Given the description of an element on the screen output the (x, y) to click on. 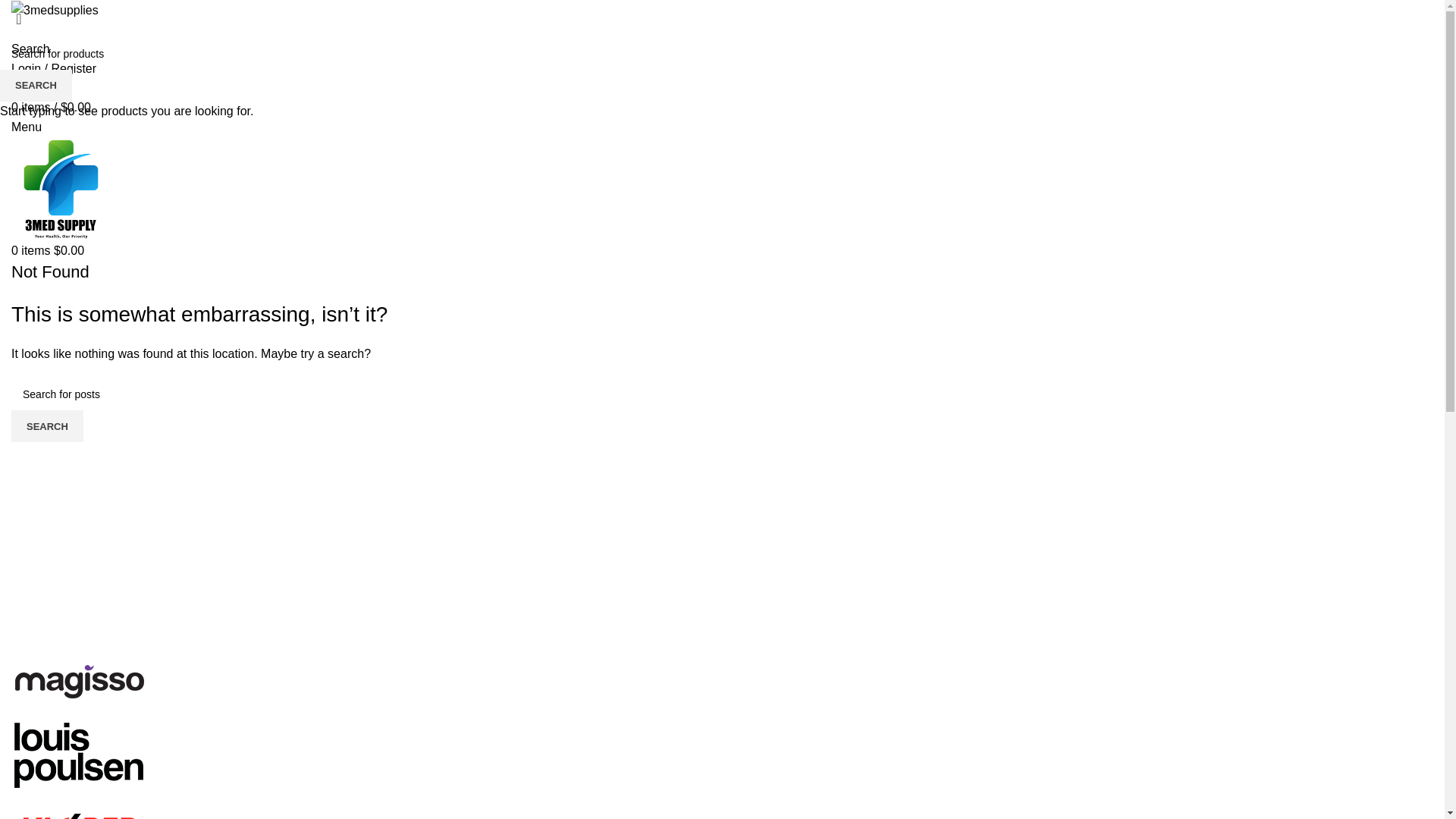
0 items / $0.00 Element type: text (51, 106)
Menu Element type: text (26, 126)
Louis Poulsen Element type: hover (79, 752)
HOME Element type: text (600, 31)
Magisso Element type: hover (79, 676)
Search Element type: text (30, 48)
ABOUT US Element type: text (656, 31)
SEARCH Element type: text (47, 426)
SHOP Element type: text (713, 31)
0 items $0.00 Element type: text (47, 250)
Wishlist Element type: text (32, 87)
SEARCH Element type: text (36, 85)
Search for products Element type: hover (722, 53)
CONTACT US Element type: text (825, 31)
Login / Register Element type: text (53, 68)
BLOG Element type: text (761, 31)
Search for posts Element type: hover (722, 394)
